Given the description of an element on the screen output the (x, y) to click on. 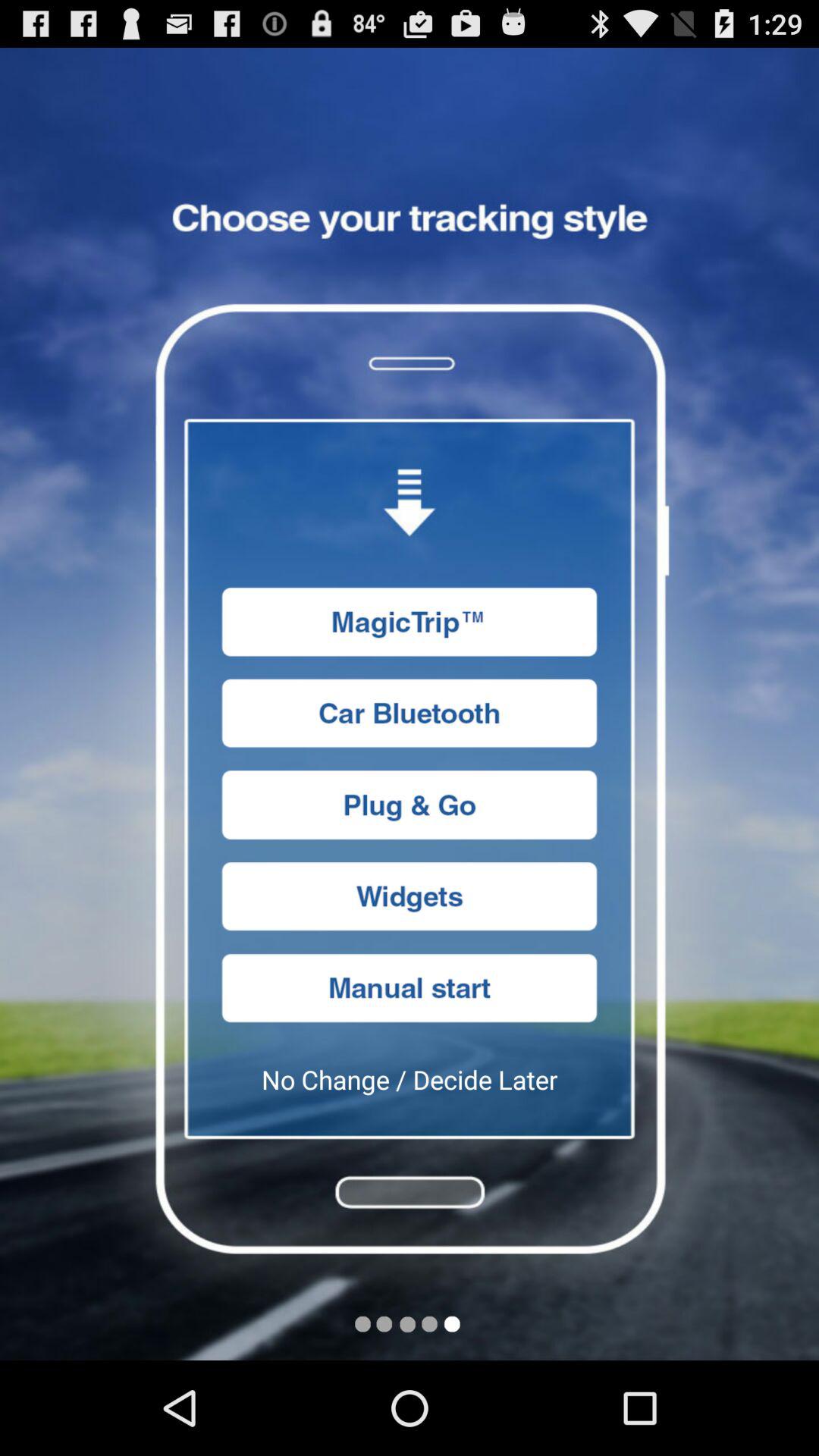
select magictrip (409, 621)
